Given the description of an element on the screen output the (x, y) to click on. 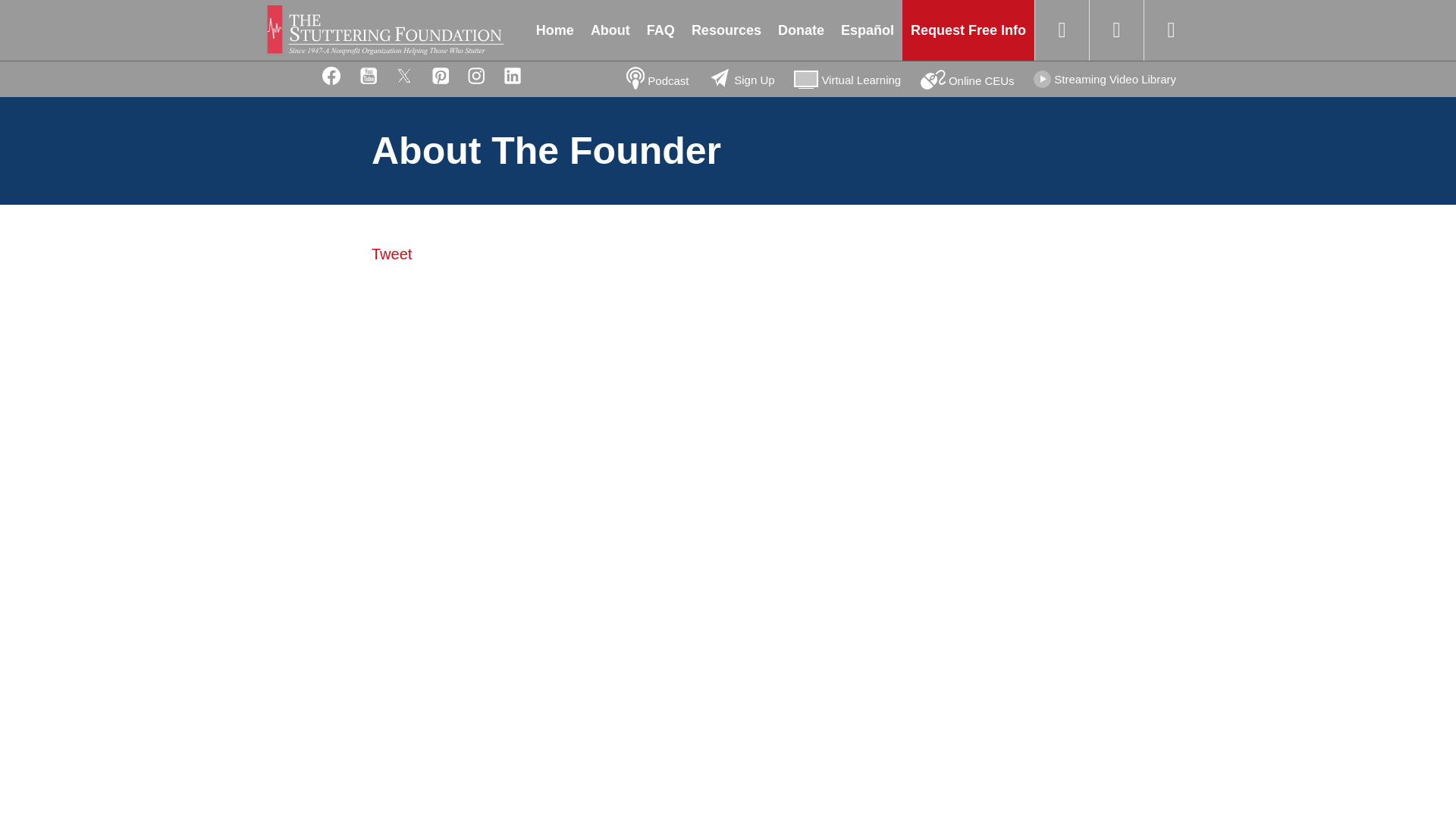
Home (383, 30)
Donate (801, 30)
Home (554, 30)
About (610, 30)
Resources (726, 30)
Request Free Info (967, 30)
